Given the description of an element on the screen output the (x, y) to click on. 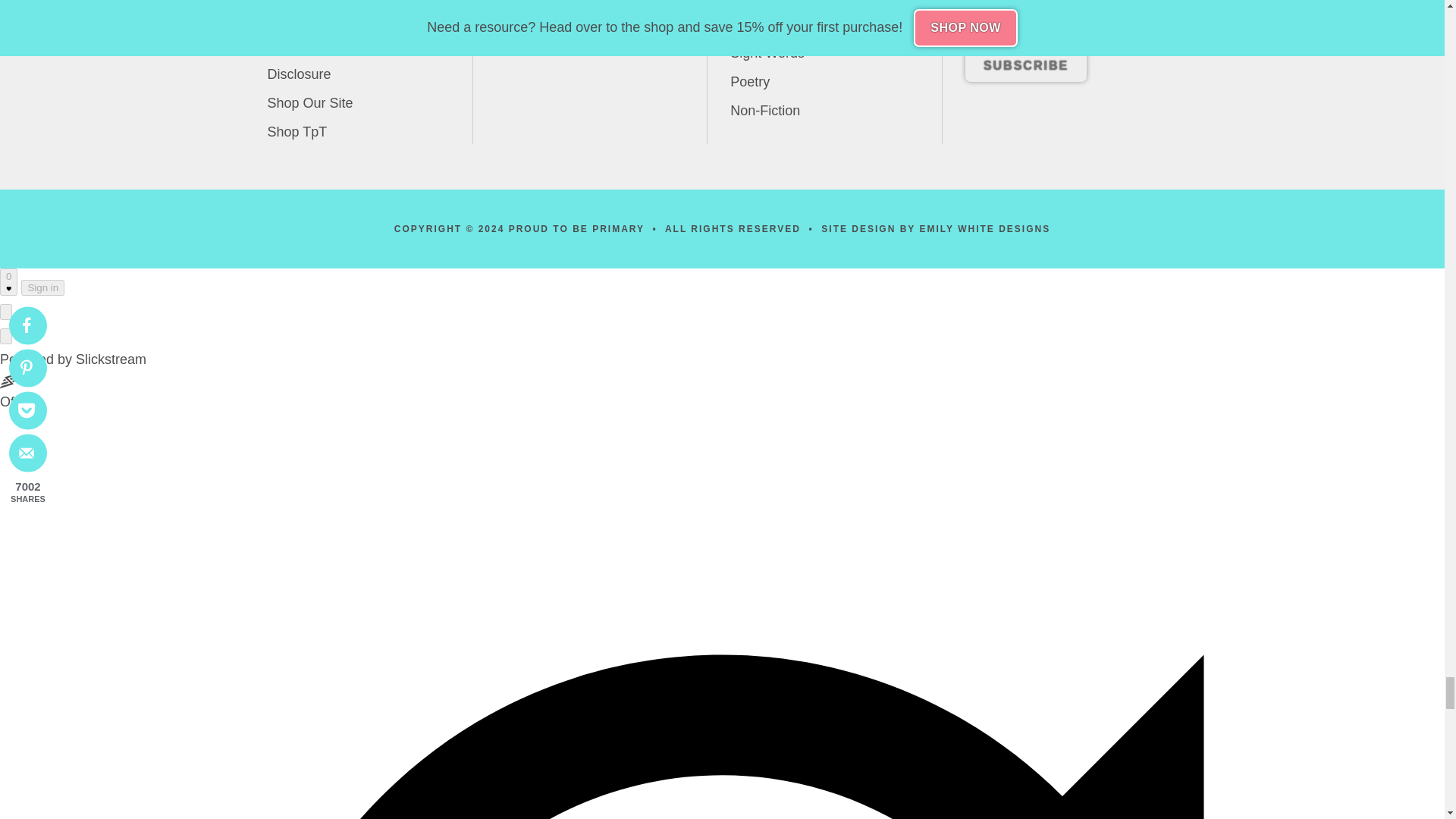
Emily White Designs (983, 228)
Subscribe (1025, 65)
